Given the description of an element on the screen output the (x, y) to click on. 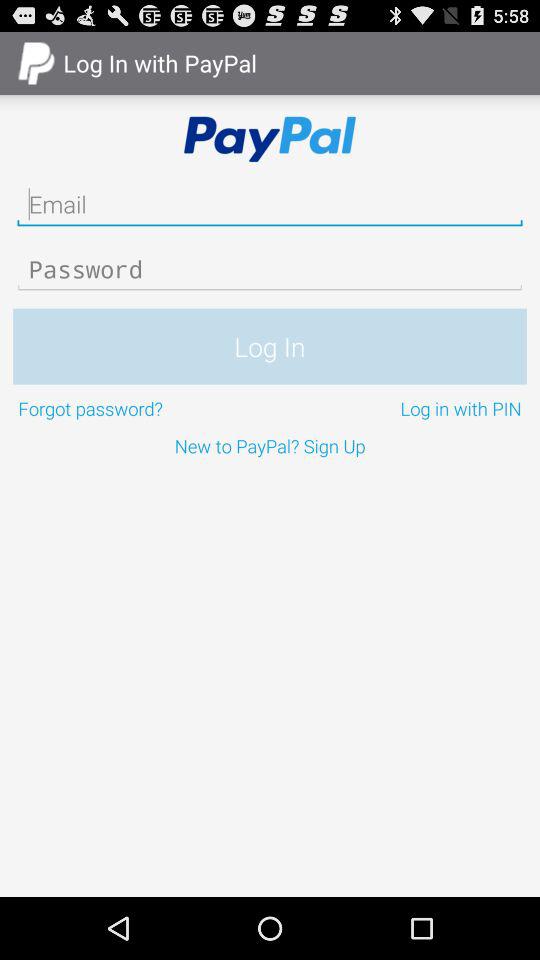
launch the forgot password? item (141, 408)
